Given the description of an element on the screen output the (x, y) to click on. 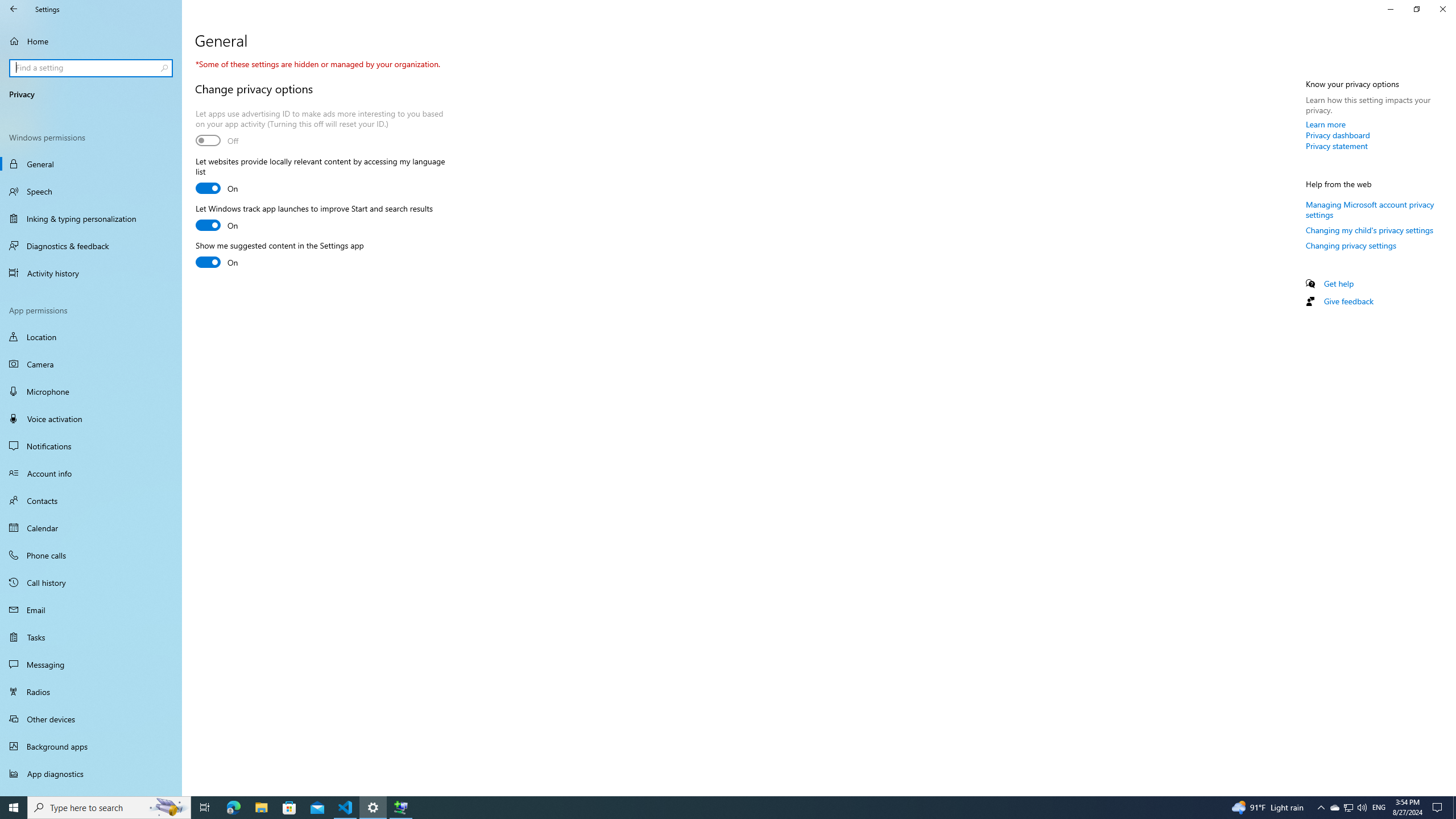
Location (91, 336)
Show me suggested content in the Settings app (279, 255)
Email (91, 609)
Background apps (91, 746)
Managing Microsoft account privacy settings (1370, 209)
Camera (91, 363)
